Given the description of an element on the screen output the (x, y) to click on. 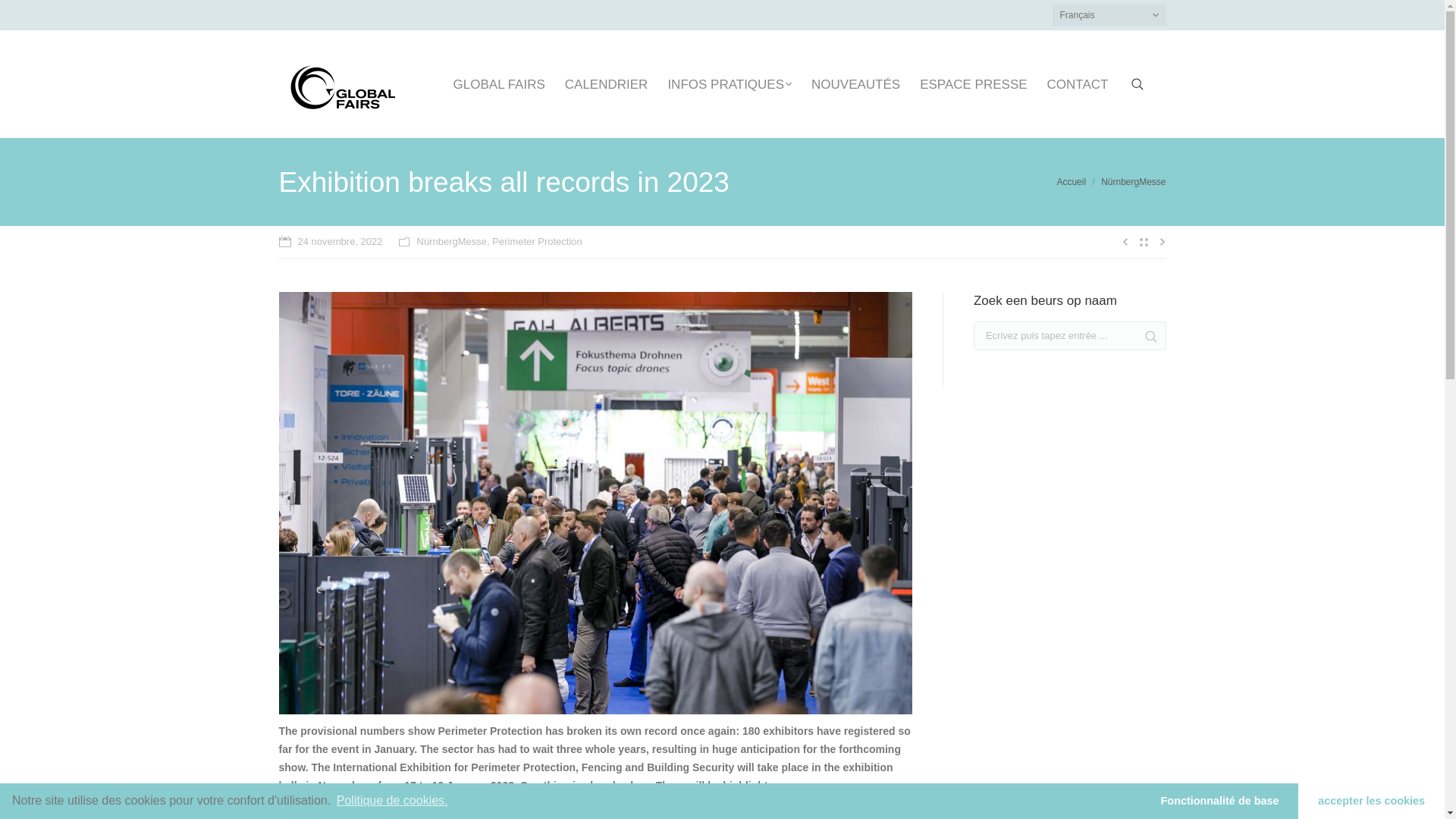
ESPACE PRESSE (973, 83)
GLOBAL FAIRS (498, 83)
Politique de cookies. (391, 800)
14:57 (330, 241)
Go! (1145, 336)
CONTACT (1077, 83)
Go! (1145, 336)
CALENDRIER (605, 83)
INFOS PRATIQUES (729, 83)
Go! (18, 13)
